Given the description of an element on the screen output the (x, y) to click on. 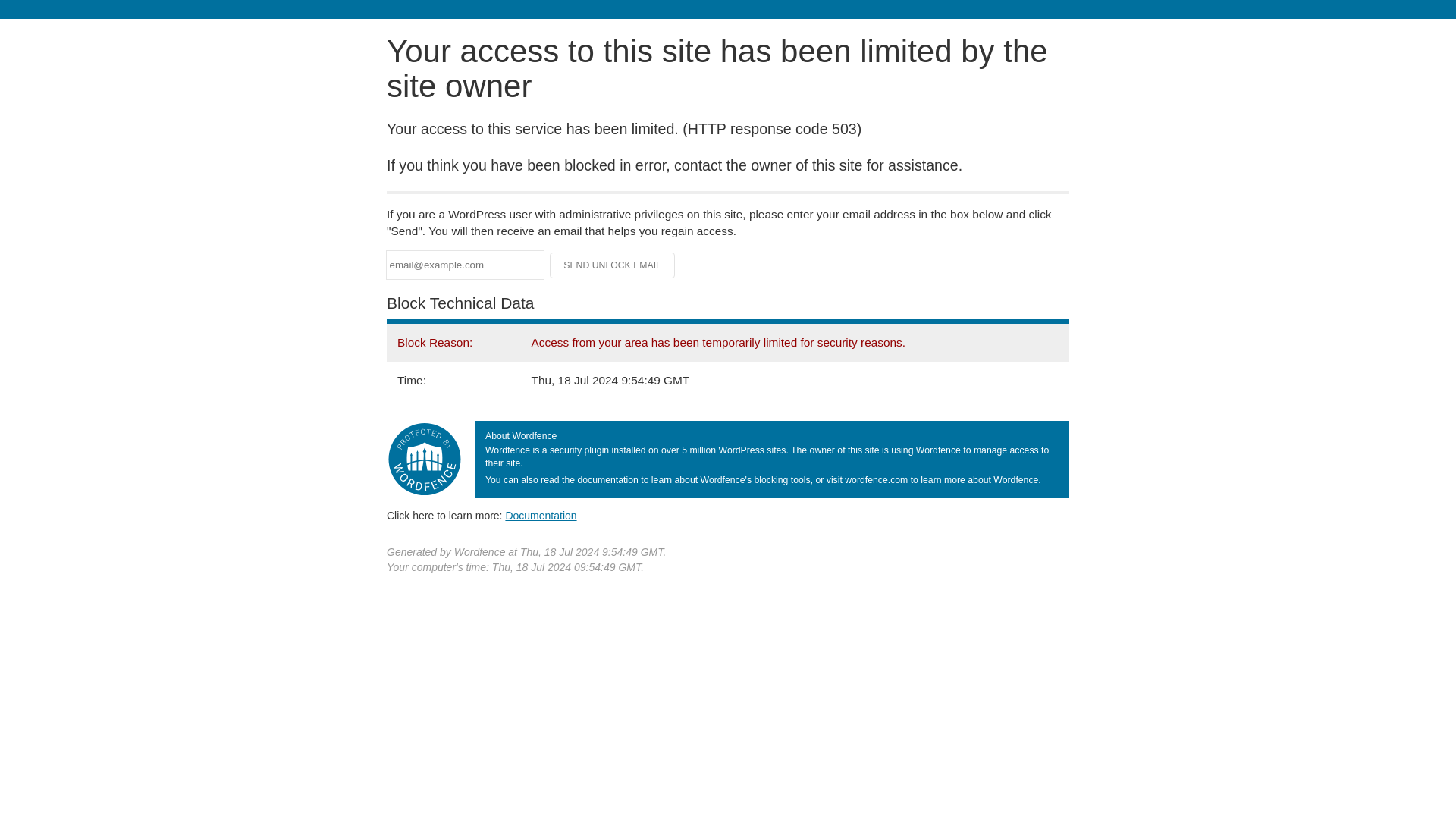
Send Unlock Email (612, 265)
Documentation (540, 515)
Send Unlock Email (612, 265)
